Given the description of an element on the screen output the (x, y) to click on. 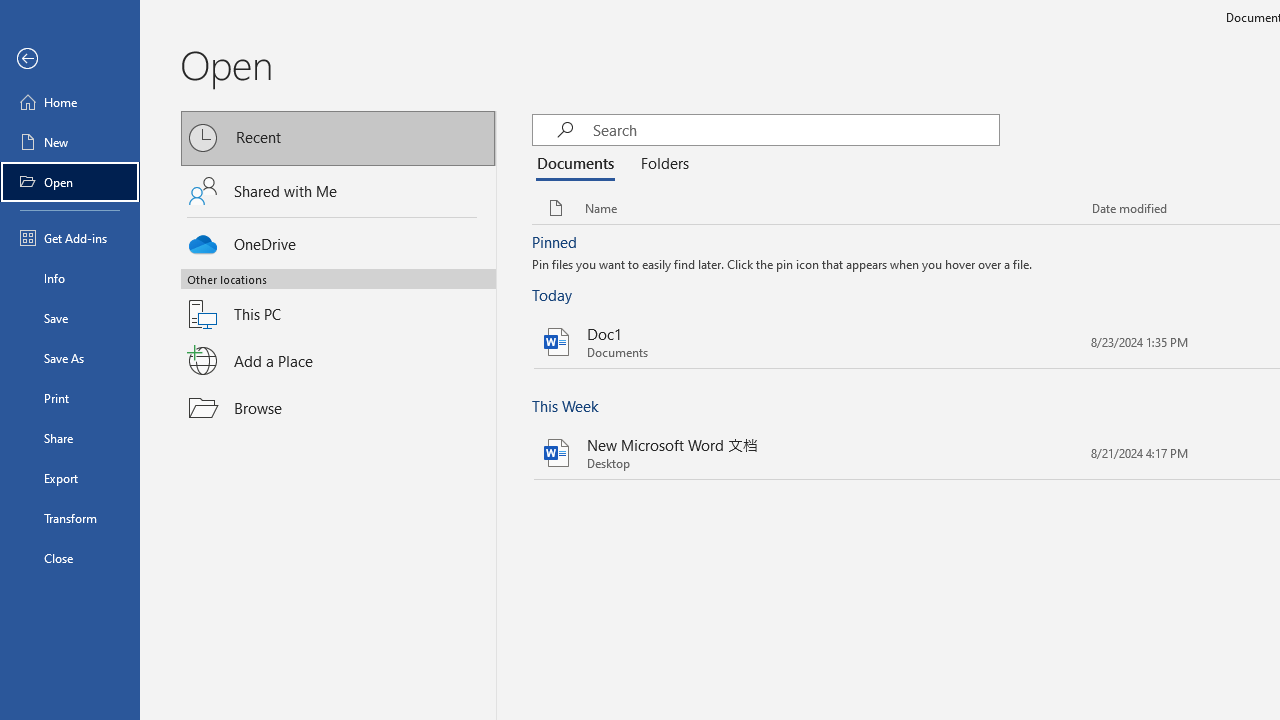
Info (69, 277)
Print (69, 398)
OneDrive (338, 240)
Save As (69, 357)
Export (69, 477)
Transform (69, 517)
Folders (661, 164)
Class: NetUIListViewItem (783, 266)
Get Add-ins (69, 237)
Browse (338, 407)
